Given the description of an element on the screen output the (x, y) to click on. 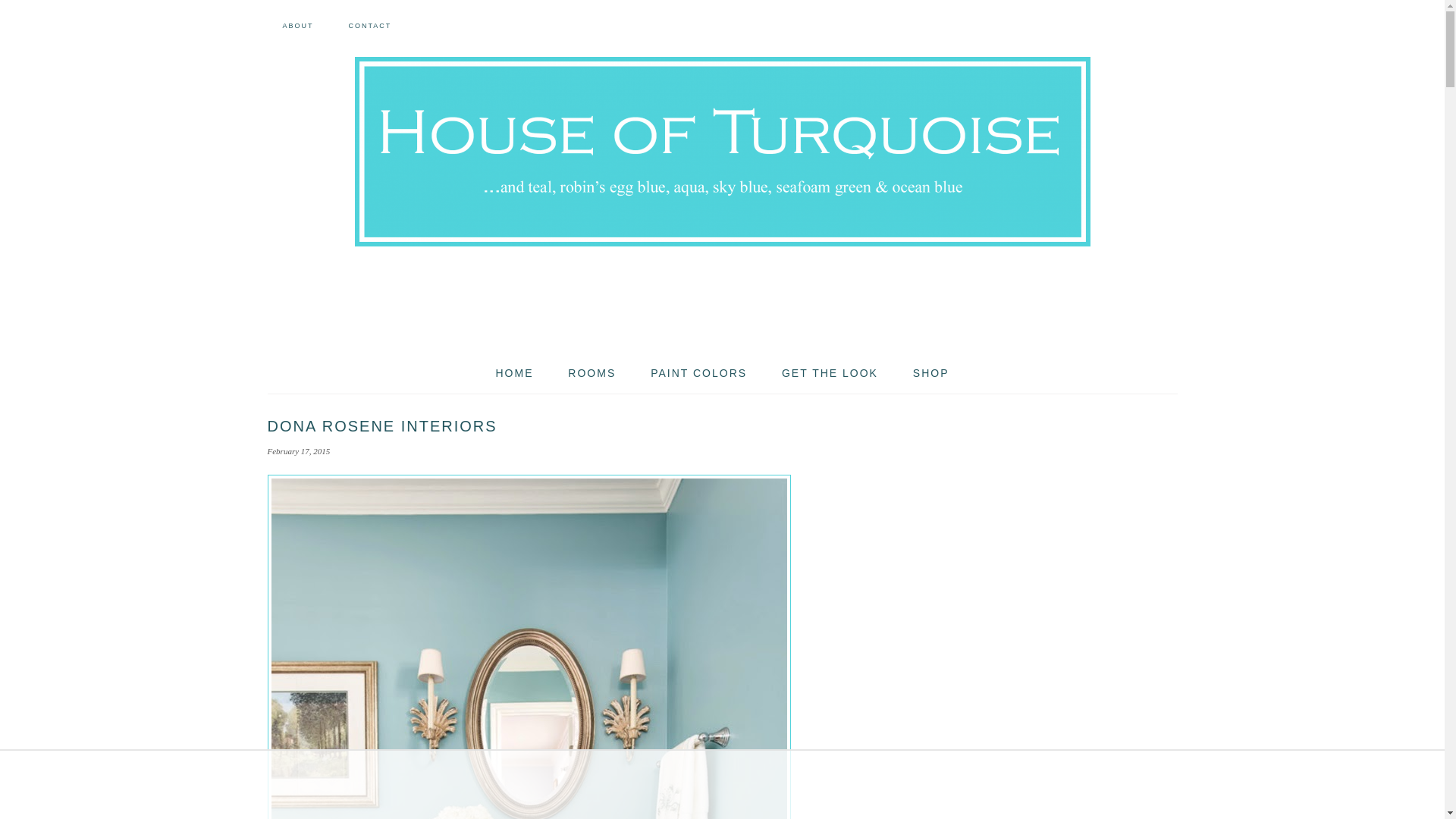
HOME (514, 372)
SHOP (930, 372)
ROOMS (591, 372)
ABOUT (297, 26)
GET THE LOOK (830, 372)
CONTACT (369, 26)
PAINT COLORS (697, 372)
